Given the description of an element on the screen output the (x, y) to click on. 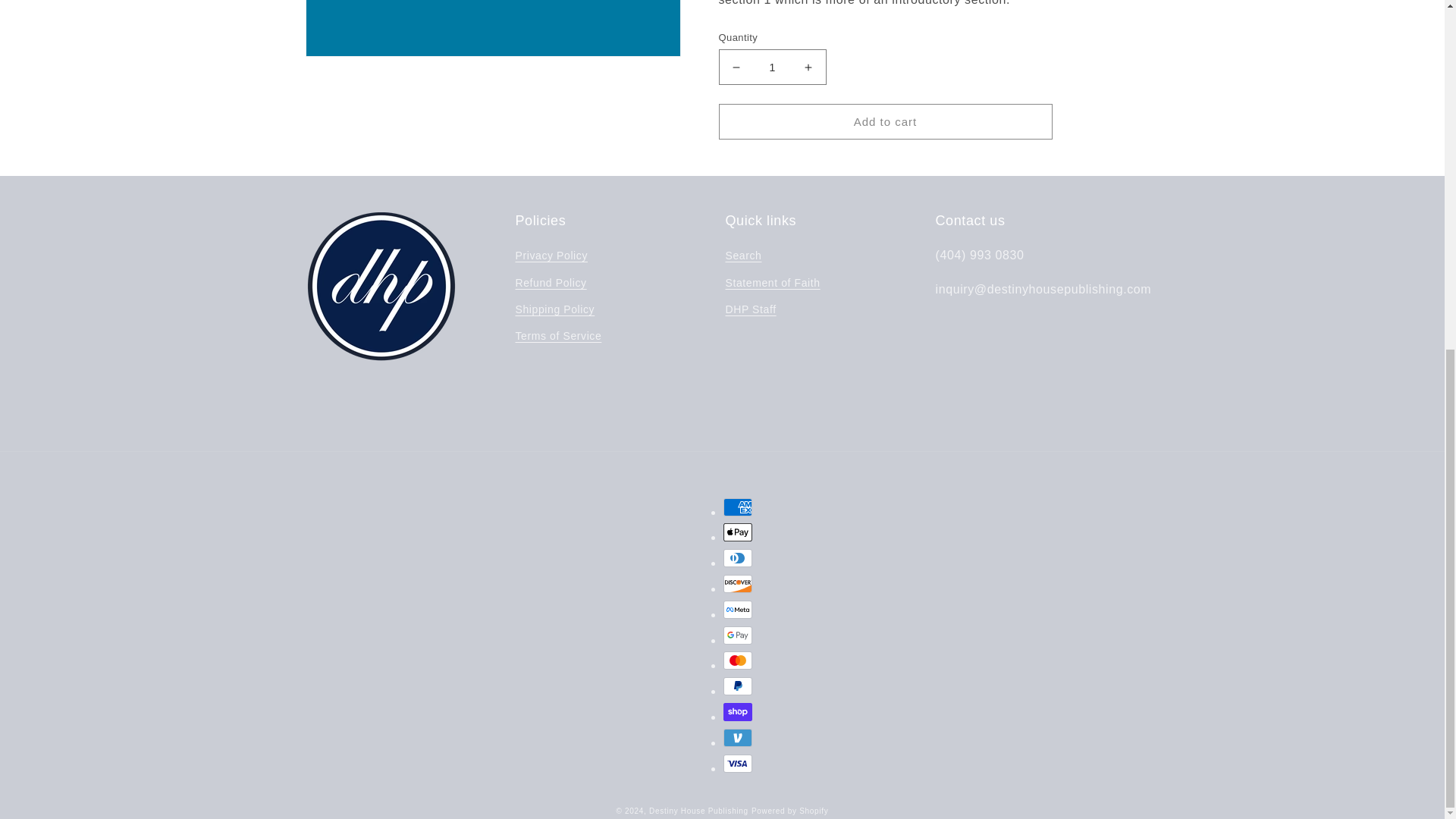
Privacy Policy (551, 257)
Shop Pay (737, 711)
Visa (737, 763)
Meta Pay (737, 609)
Diners Club (737, 557)
Discover (737, 583)
Google Pay (737, 635)
Add to cart (885, 102)
Refund Policy (550, 283)
Mastercard (737, 660)
American Express (737, 506)
Venmo (737, 737)
PayPal (737, 686)
